Given the description of an element on the screen output the (x, y) to click on. 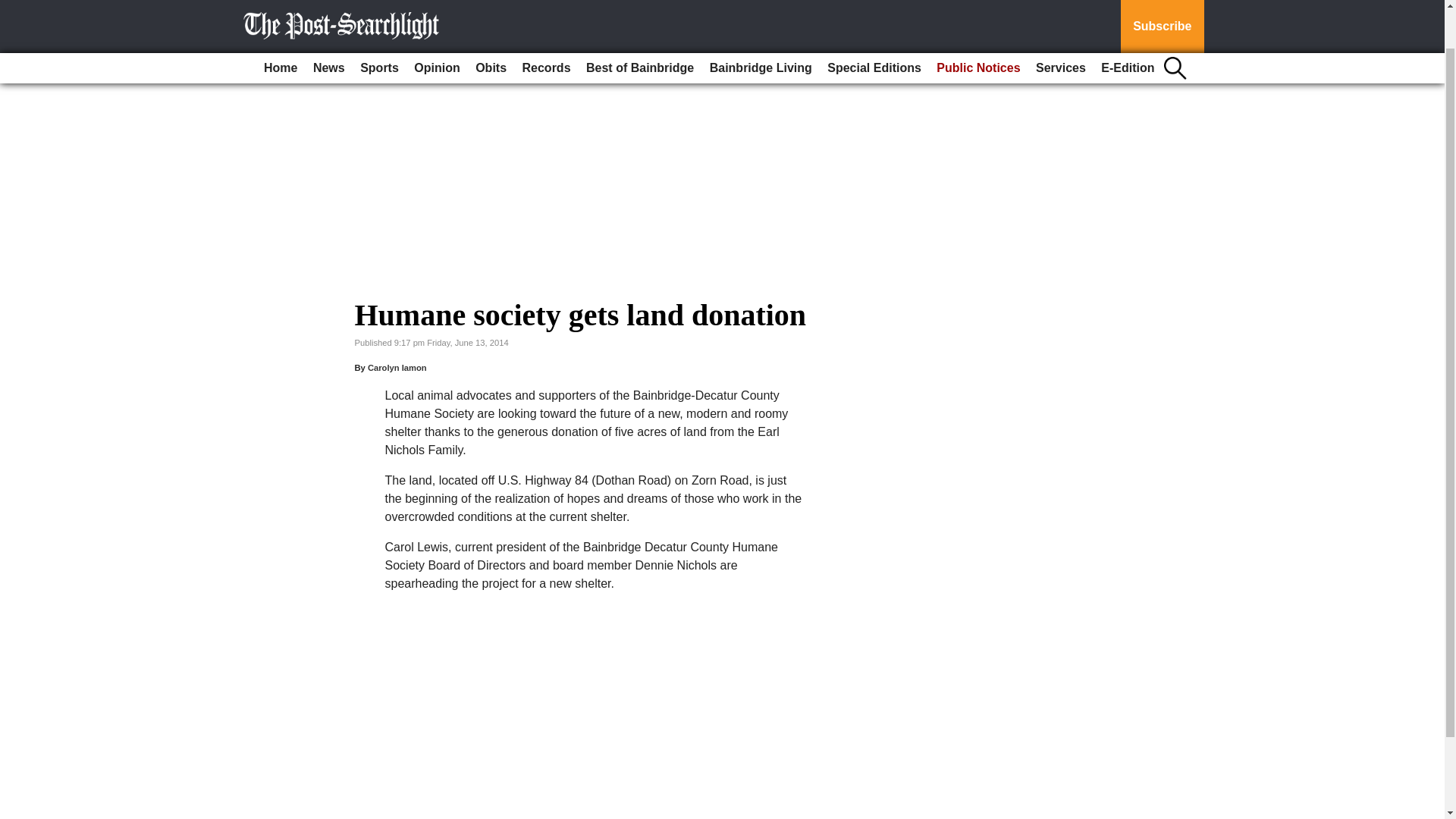
Sports (378, 23)
Records (546, 23)
Best of Bainbridge (639, 23)
Obits (490, 23)
E-Edition (1127, 23)
Bainbridge Living (760, 23)
Tropical Storm Debby to make landfall Monday morning (606, 50)
Services (1060, 23)
Tropical Storm Debby to make landfall Monday morning (606, 50)
Public Notices (978, 23)
Home (279, 23)
Opinion (436, 23)
Subscribe (1162, 4)
Carolyn Iamon (397, 367)
News (328, 23)
